Given the description of an element on the screen output the (x, y) to click on. 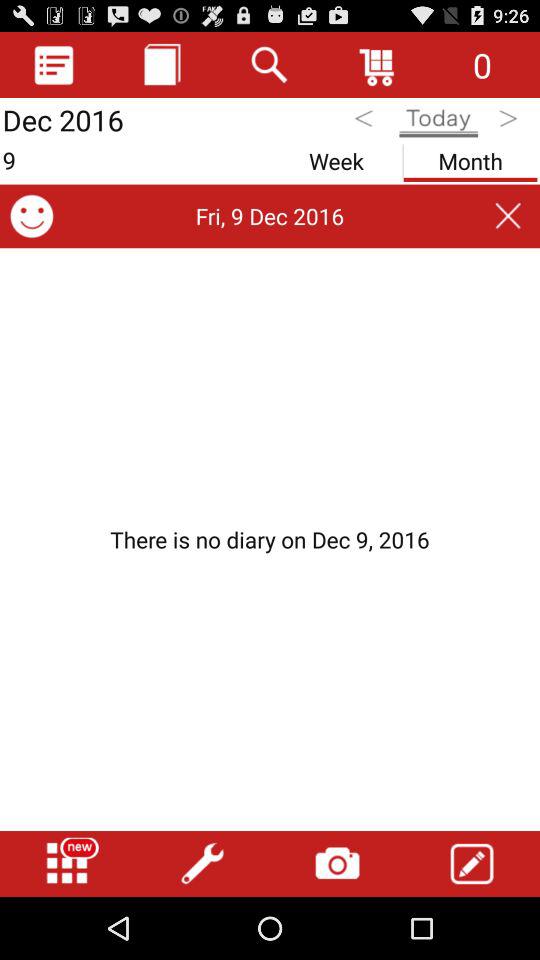
search (270, 64)
